Given the description of an element on the screen output the (x, y) to click on. 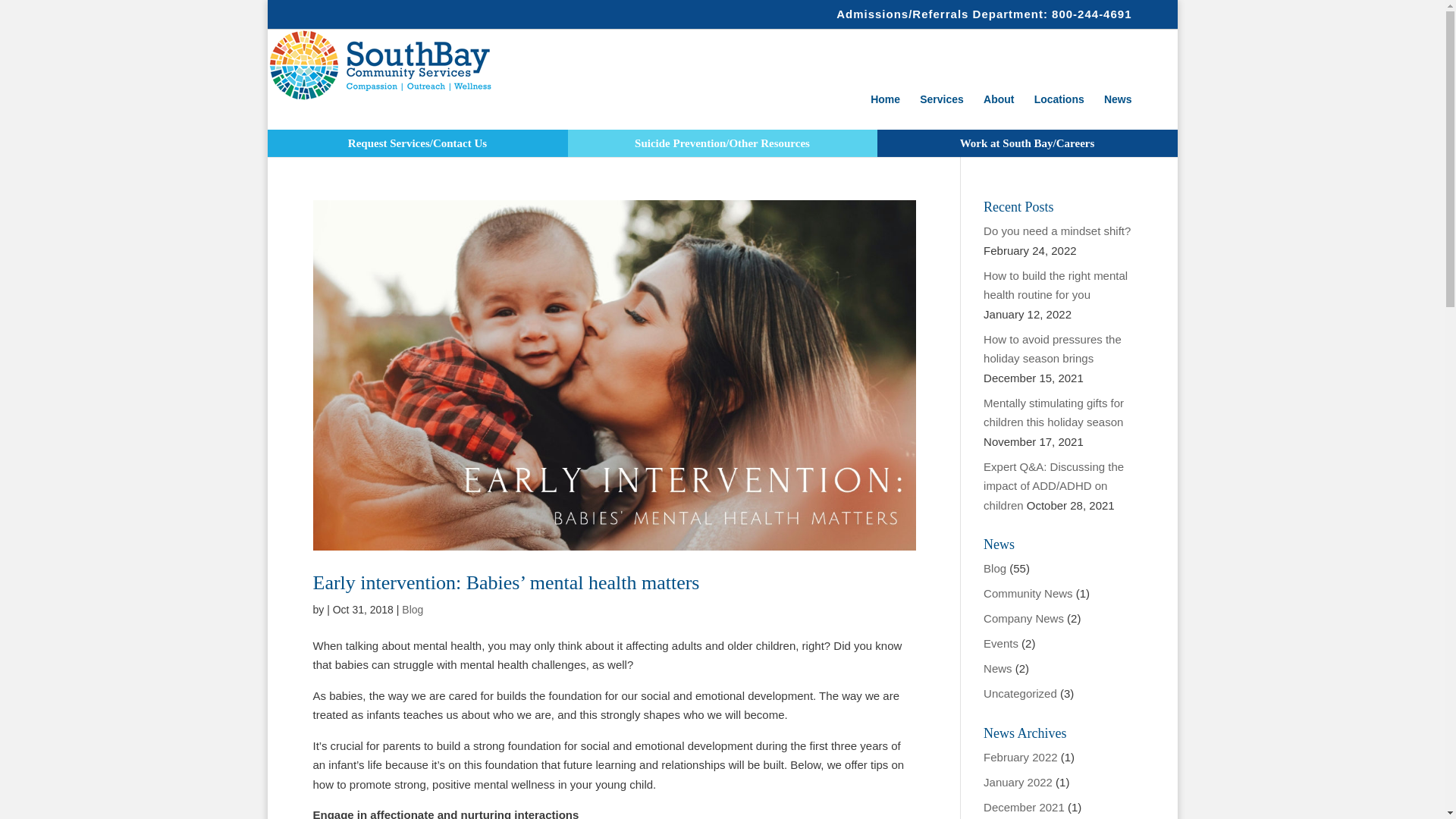
December 2021 (1024, 807)
How to build the right mental health routine for you (1055, 284)
Blog (412, 609)
News (997, 667)
Uncategorized (1020, 693)
Work at South Bay (1026, 142)
January 2022 (1018, 780)
Do you need a mindset shift? (1057, 230)
Home (884, 108)
Services (941, 108)
Suicide Prevention (721, 142)
Request Services (416, 142)
About (998, 108)
Company News (1024, 617)
Locations (1058, 108)
